Given the description of an element on the screen output the (x, y) to click on. 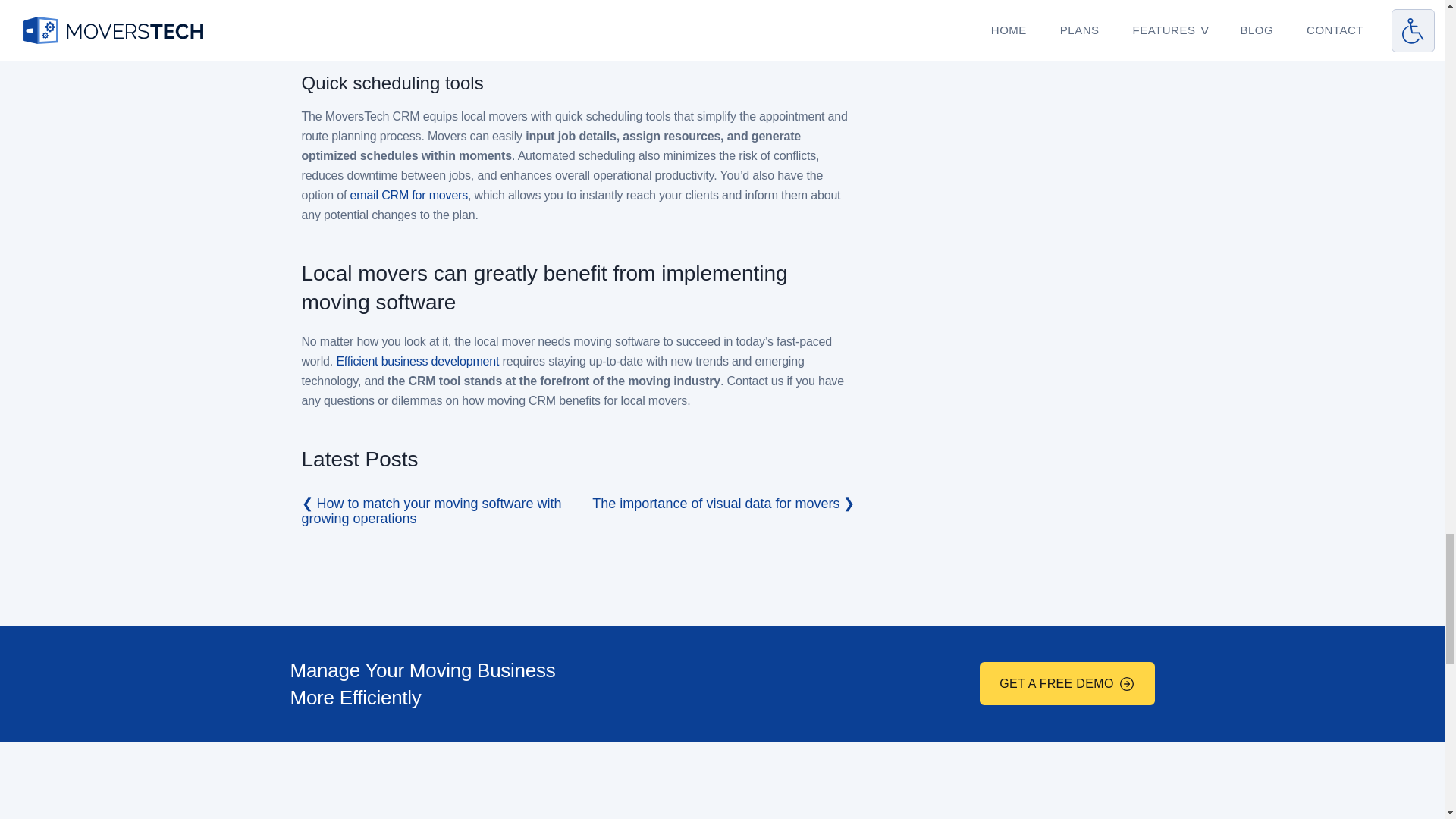
Efficient business development (417, 360)
GET A FREE DEMO (1066, 683)
email CRM for movers (409, 195)
